Given the description of an element on the screen output the (x, y) to click on. 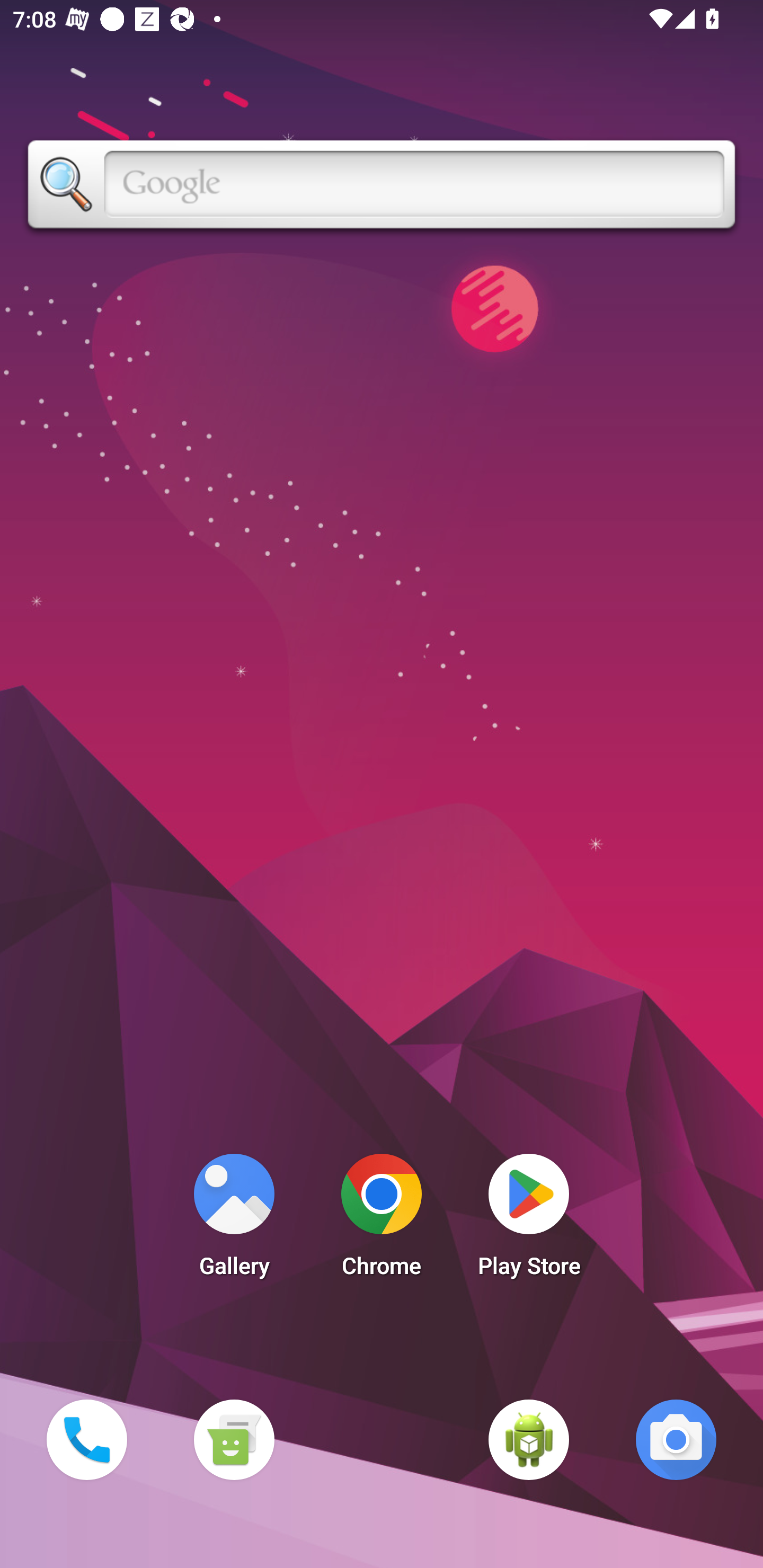
Gallery (233, 1220)
Chrome (381, 1220)
Play Store (528, 1220)
Phone (86, 1439)
Messaging (233, 1439)
WebView Browser Tester (528, 1439)
Camera (676, 1439)
